Given the description of an element on the screen output the (x, y) to click on. 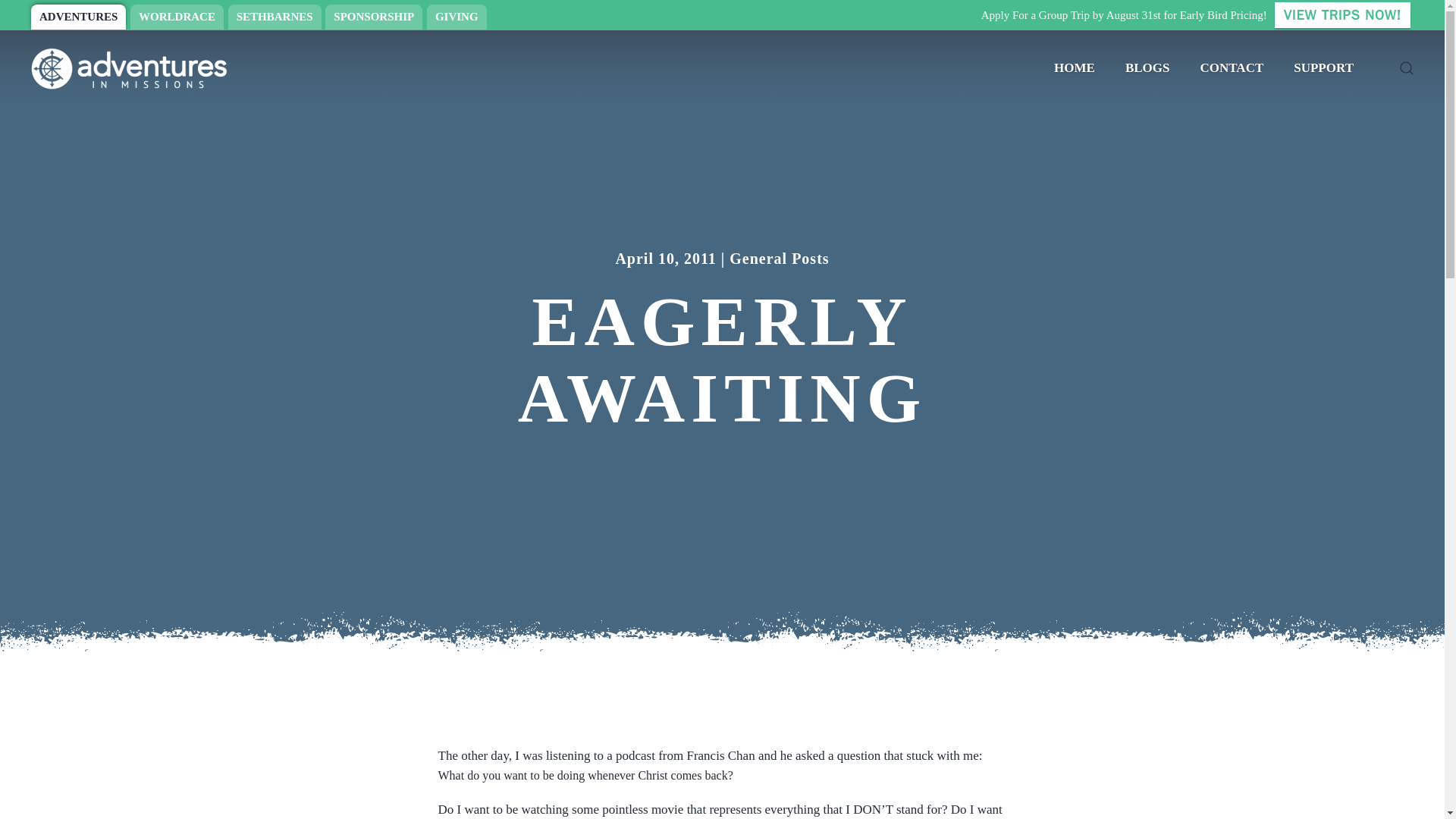
ADVENTURES (77, 16)
CONTACT (1231, 68)
WORLDRACE (177, 16)
SETHBARNES (274, 16)
HOME (1074, 68)
SUPPORT (1323, 68)
BLOGS (1147, 68)
VIEW TRIPS NOW! (1342, 14)
General Posts (778, 249)
GIVING (456, 16)
SPONSORSHIP (373, 16)
